Given the description of an element on the screen output the (x, y) to click on. 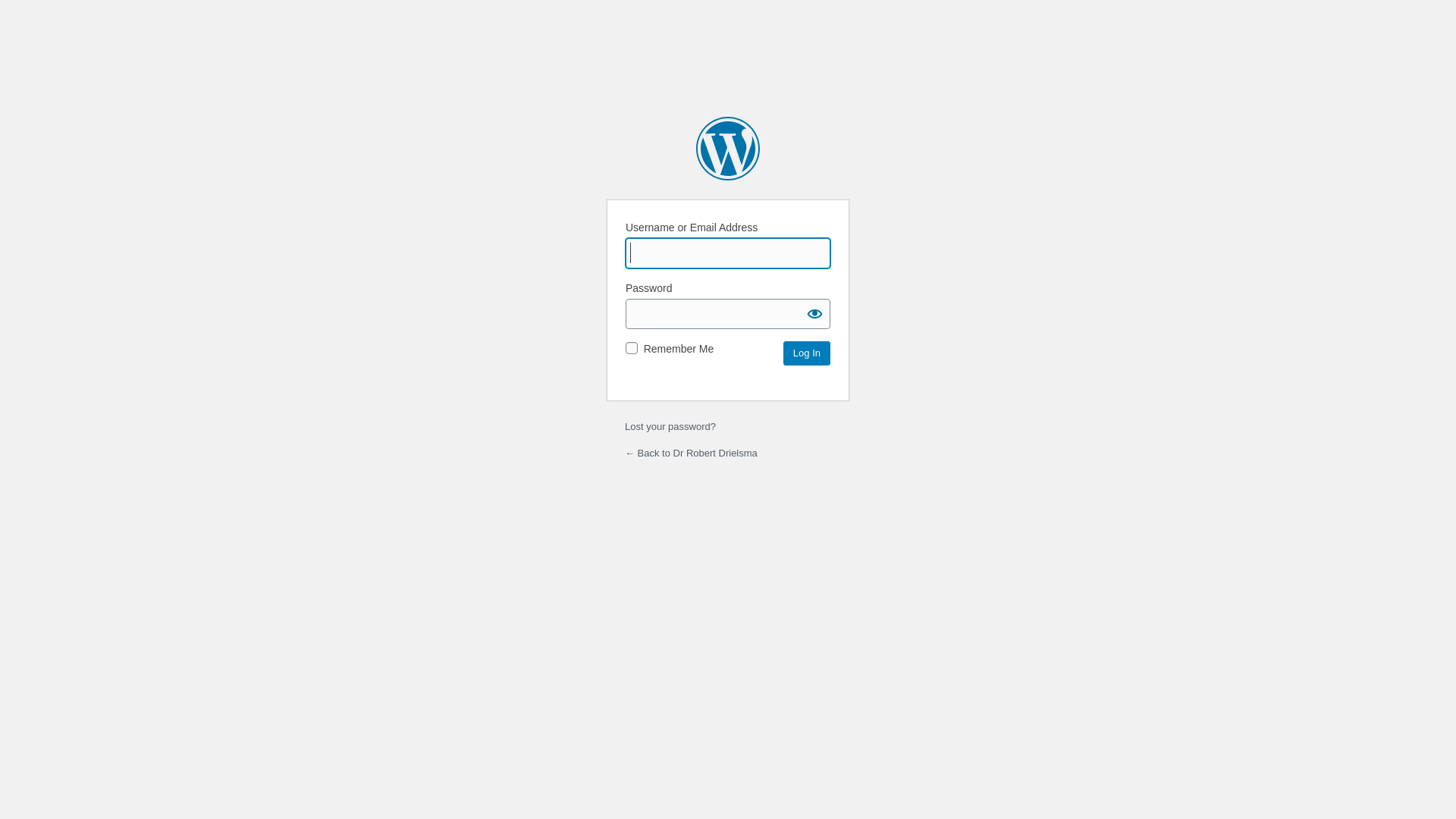
Lost your password? Element type: text (669, 426)
Log In Element type: text (806, 353)
Powered by WordPress Element type: text (727, 148)
